Given the description of an element on the screen output the (x, y) to click on. 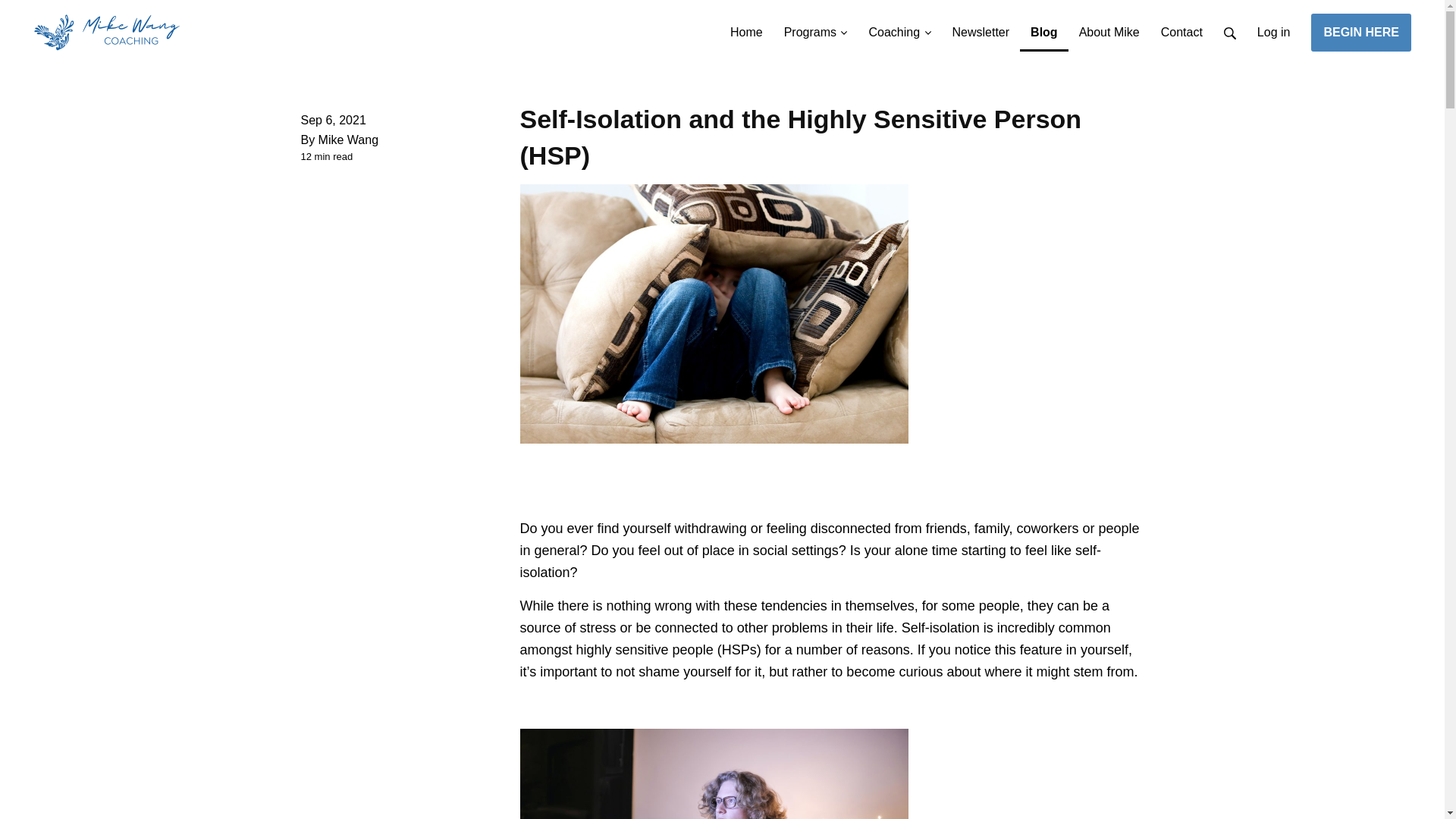
Newsletter (981, 25)
Log in (1273, 25)
Home (746, 25)
BEGIN HERE (1360, 32)
Programs (816, 25)
About Mike (1109, 25)
Coaching (898, 25)
Contact (1181, 25)
